Given the description of an element on the screen output the (x, y) to click on. 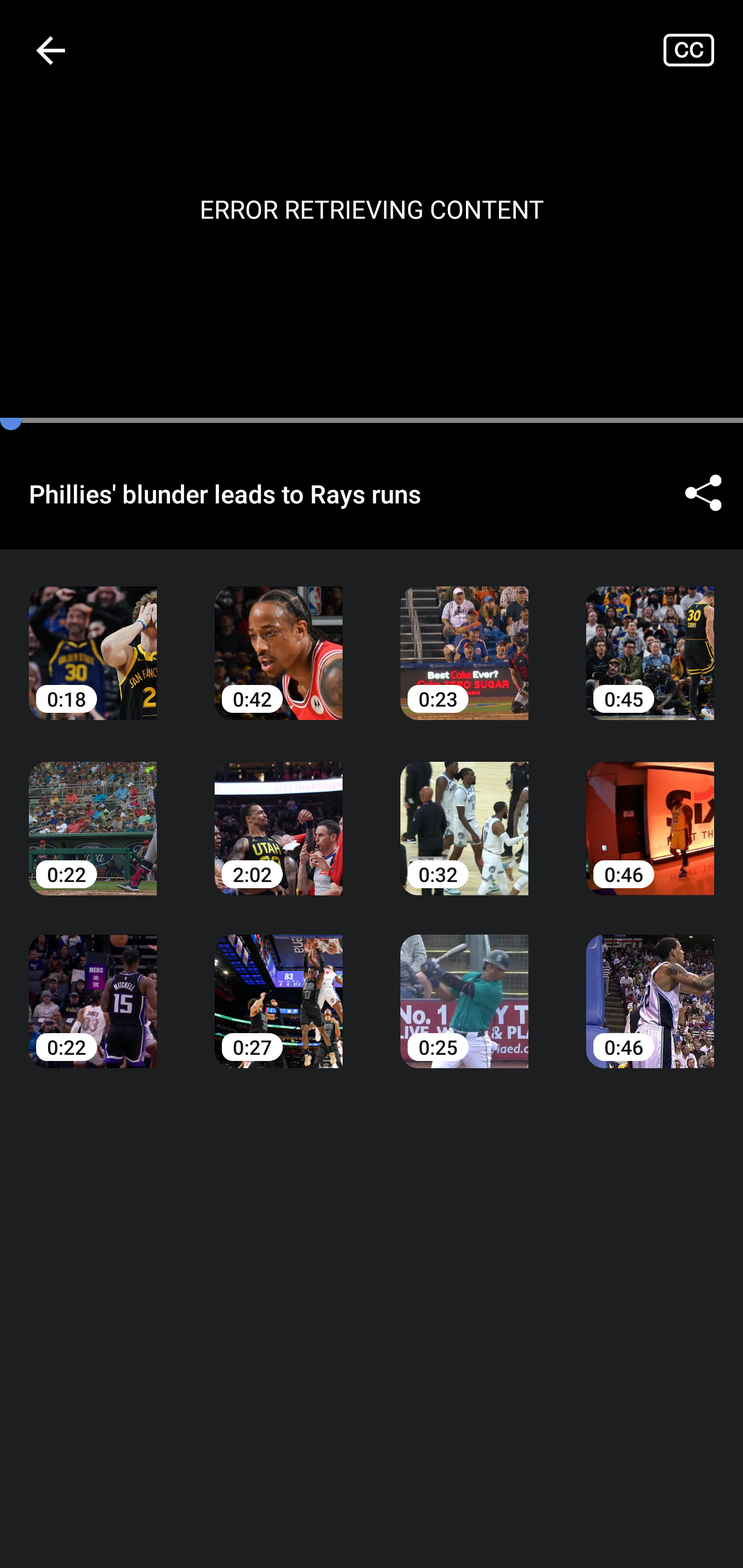
Navigate up (50, 50)
Closed captions  (703, 49)
Share © (703, 493)
0:18 (92, 637)
0:42 (278, 637)
0:23 (464, 637)
0:45 (650, 637)
0:22 (92, 813)
2:02 (278, 813)
0:32 (464, 813)
0:46 (650, 813)
0:22 (92, 987)
0:27 (278, 987)
0:25 (464, 987)
0:46 (650, 987)
